Given the description of an element on the screen output the (x, y) to click on. 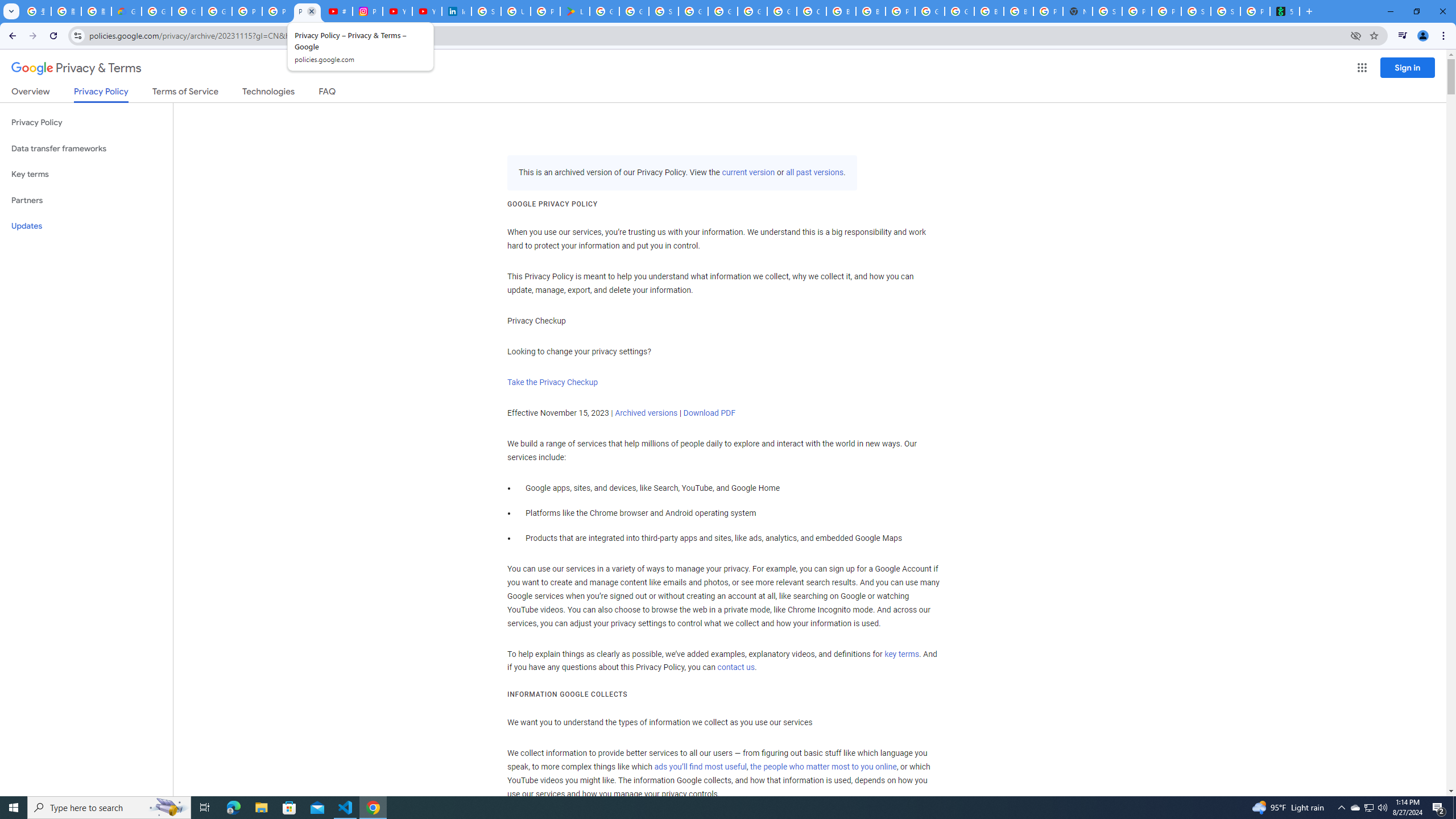
Google Workspace - Specific Terms (633, 11)
Browse Chrome as a guest - Computer - Google Chrome Help (989, 11)
YouTube Culture & Trends - On The Rise: Handcam Videos (397, 11)
